Given the description of an element on the screen output the (x, y) to click on. 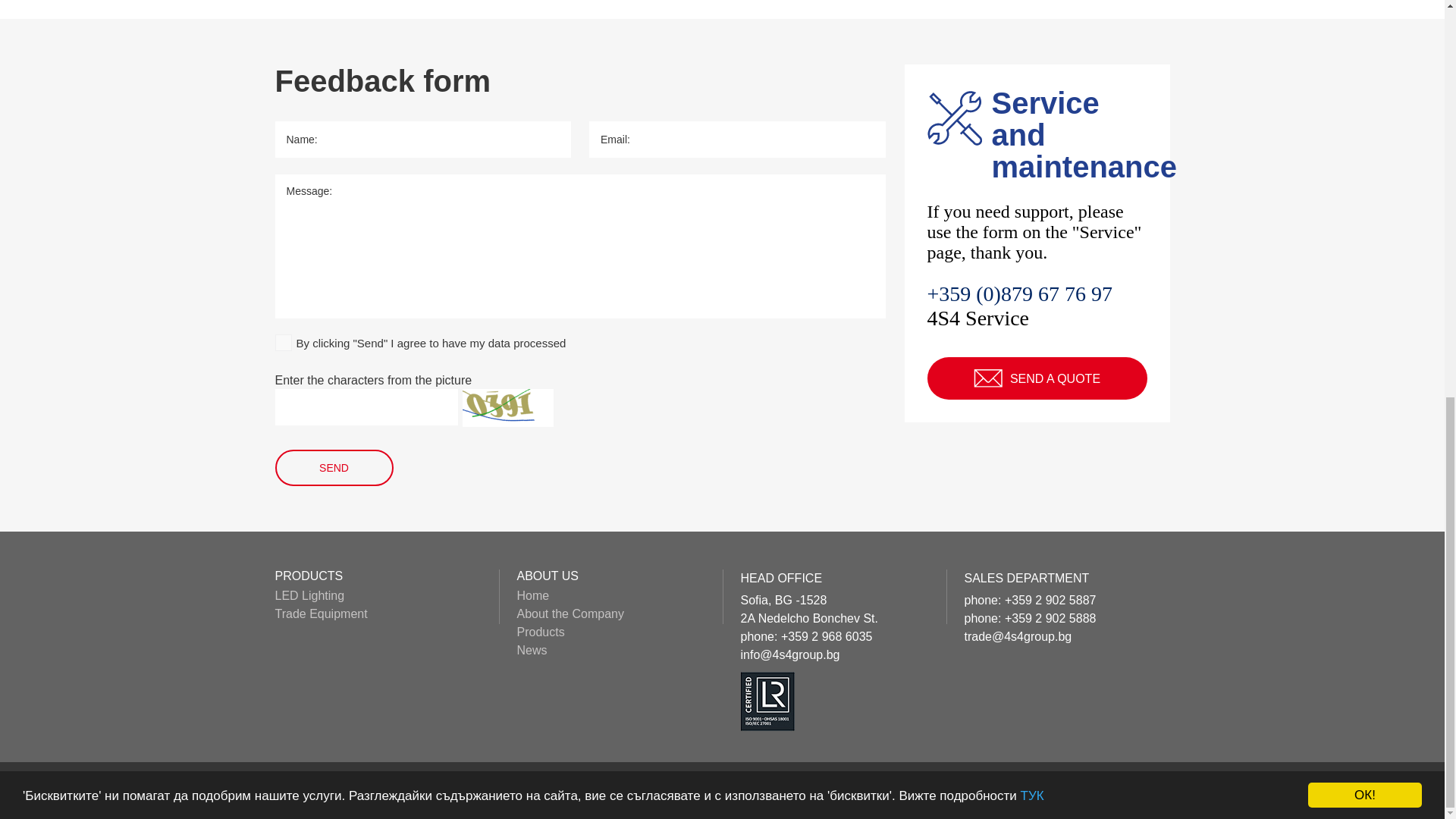
About the Company (487, 790)
About Us (574, 790)
Energy meters (648, 790)
News (531, 649)
Trade Equipment (320, 613)
Home (533, 594)
SEND A QUOTE (1036, 378)
LED Lighting (309, 594)
SEND (334, 467)
About the Company (570, 613)
